Given the description of an element on the screen output the (x, y) to click on. 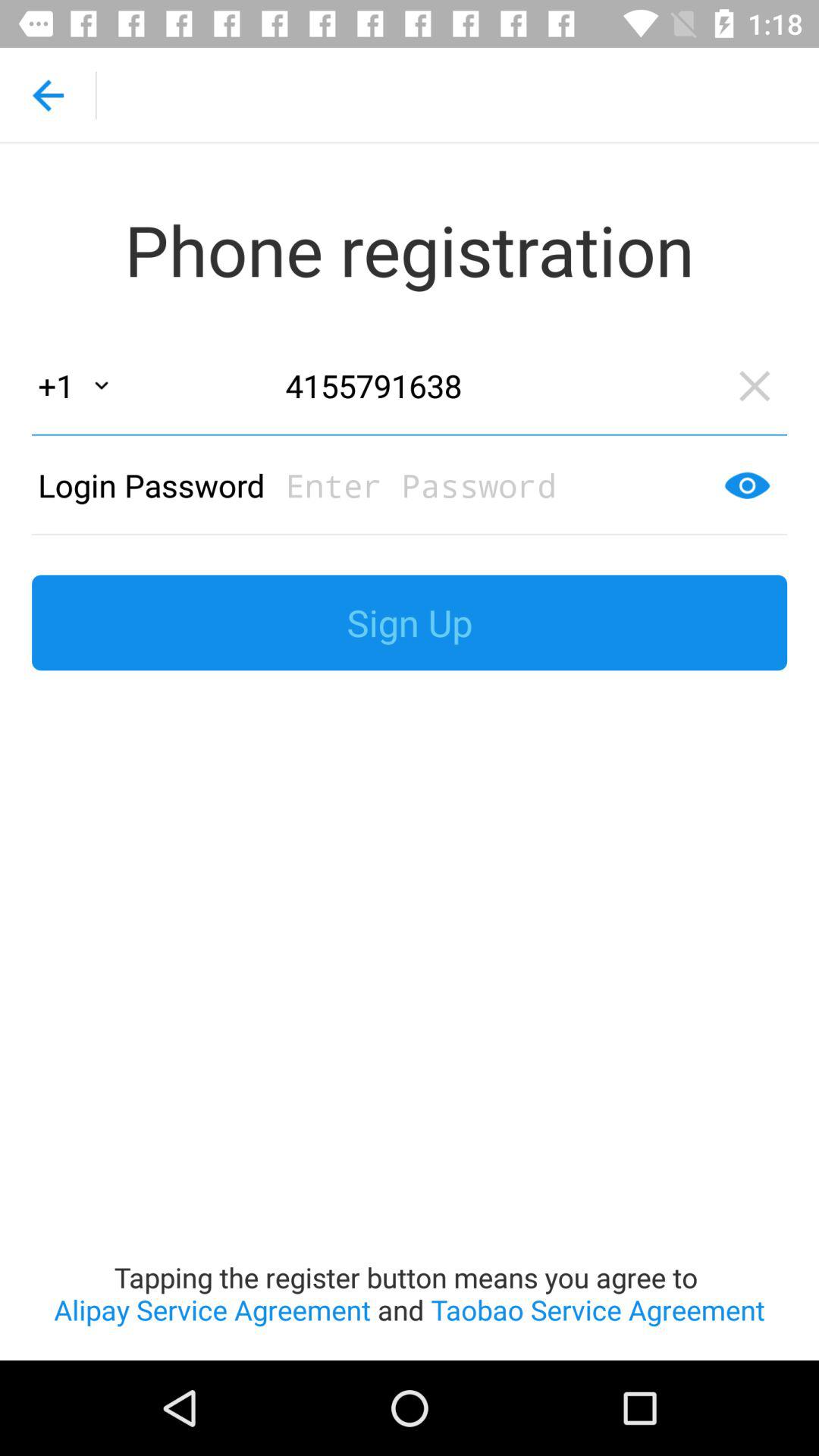
launch the icon above tapping the register (409, 622)
